Given the description of an element on the screen output the (x, y) to click on. 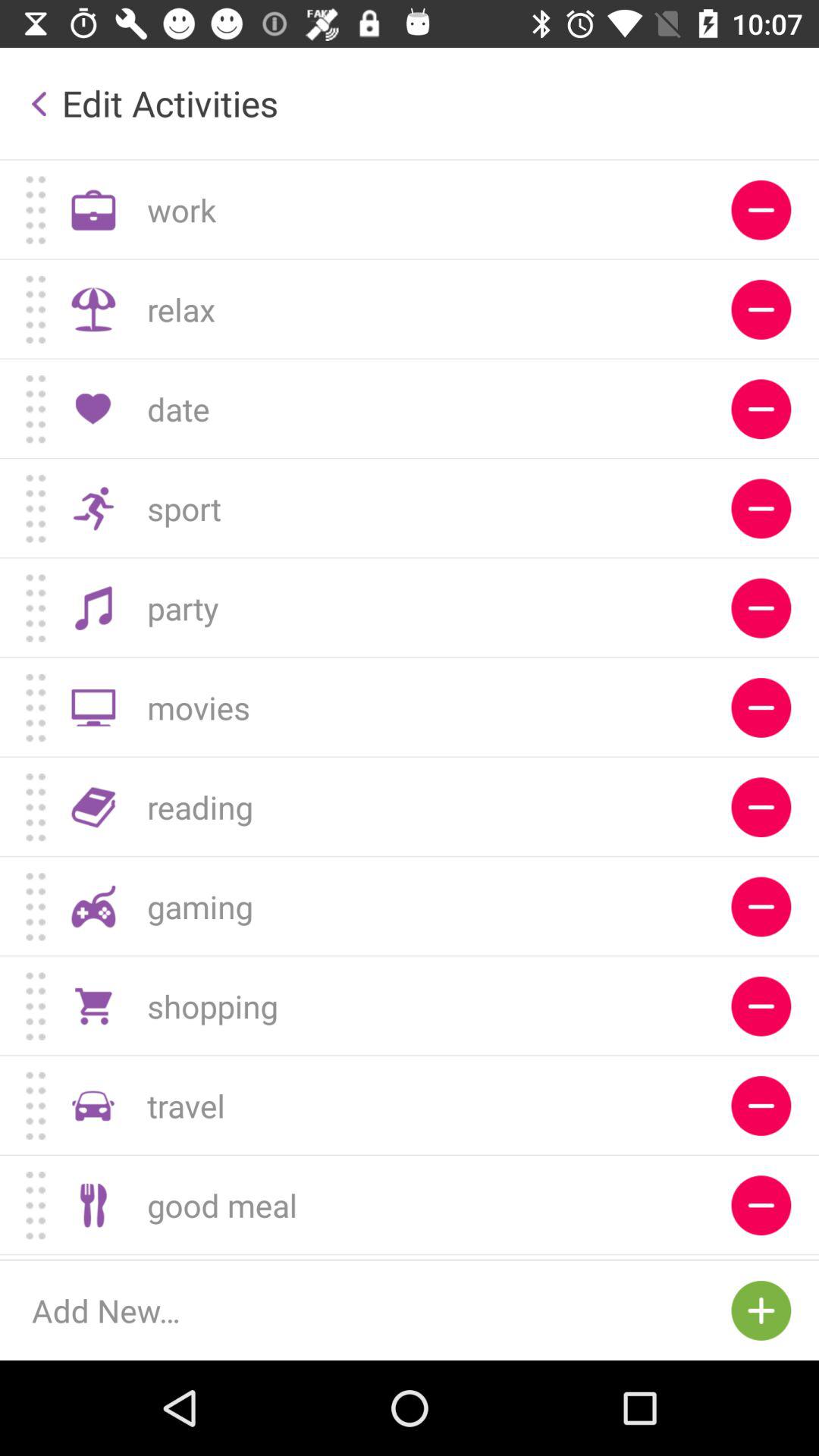
remove the work activity (761, 209)
